Given the description of an element on the screen output the (x, y) to click on. 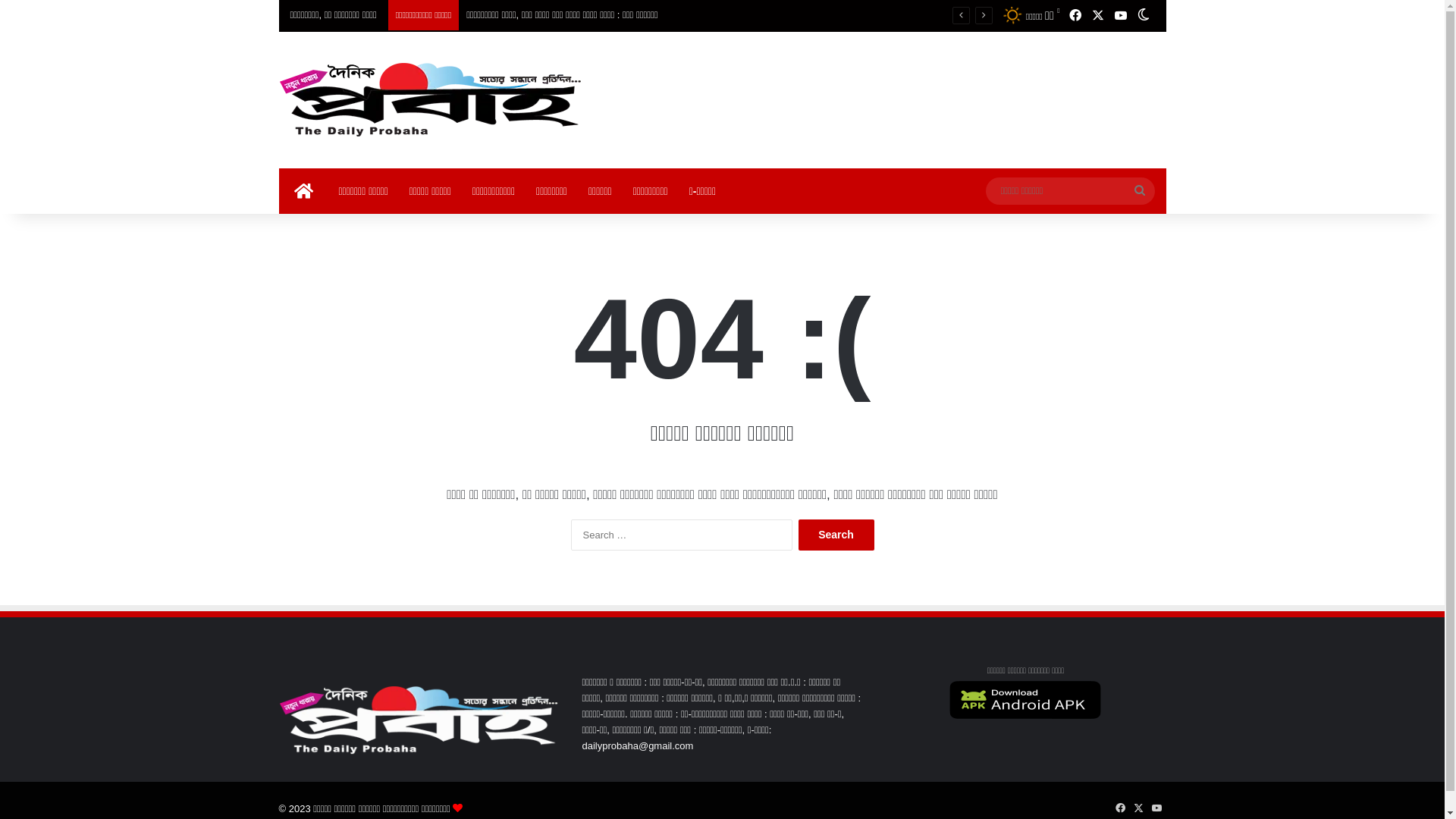
YouTube Element type: text (1157, 808)
X Element type: text (1096, 15)
Switch skin Element type: text (1142, 15)
Facebook Element type: text (1074, 15)
YouTube Element type: text (1119, 15)
X Element type: text (1138, 808)
Facebook Element type: text (1120, 808)
Search Element type: text (835, 534)
